Given the description of an element on the screen output the (x, y) to click on. 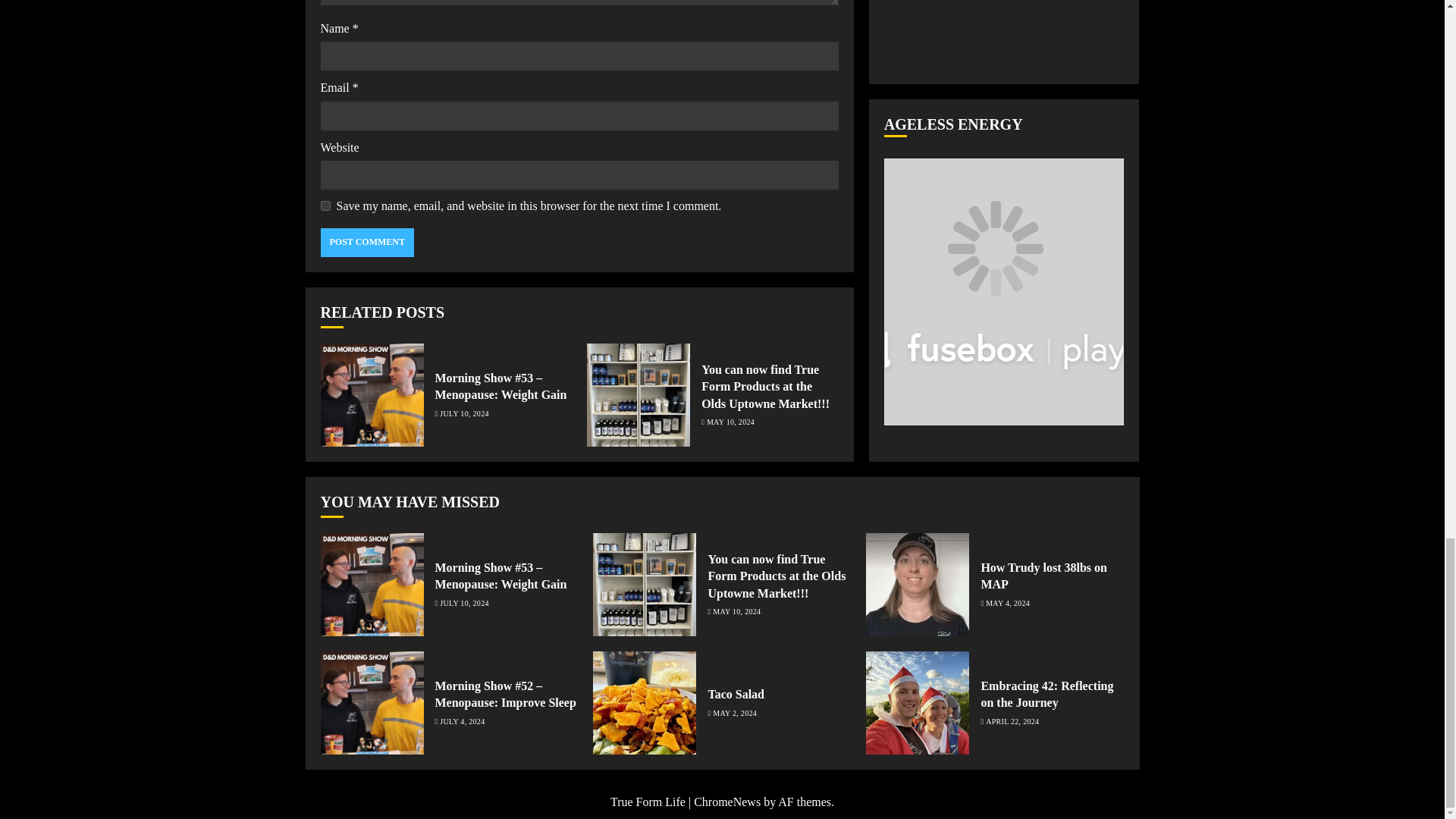
yes (325, 205)
Post Comment (366, 242)
